Given the description of an element on the screen output the (x, y) to click on. 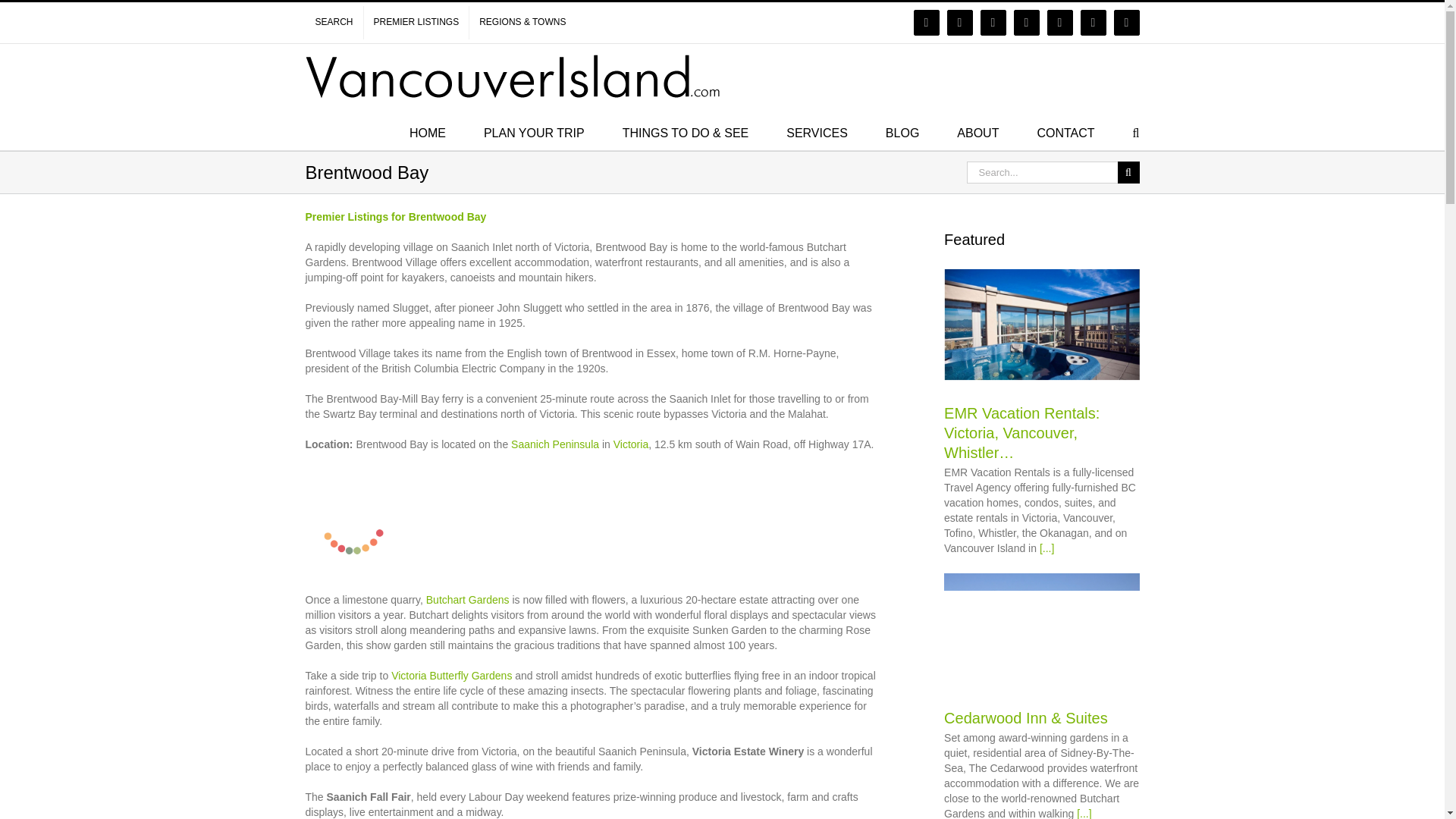
Tumblr (1126, 22)
SEARCH (333, 22)
Flickr (959, 22)
How to reach us (1065, 131)
YouTube (1026, 22)
Flickr (959, 22)
HOME (427, 131)
Twitter (992, 22)
Facebook (926, 22)
YouTube (1026, 22)
